Given the description of an element on the screen output the (x, y) to click on. 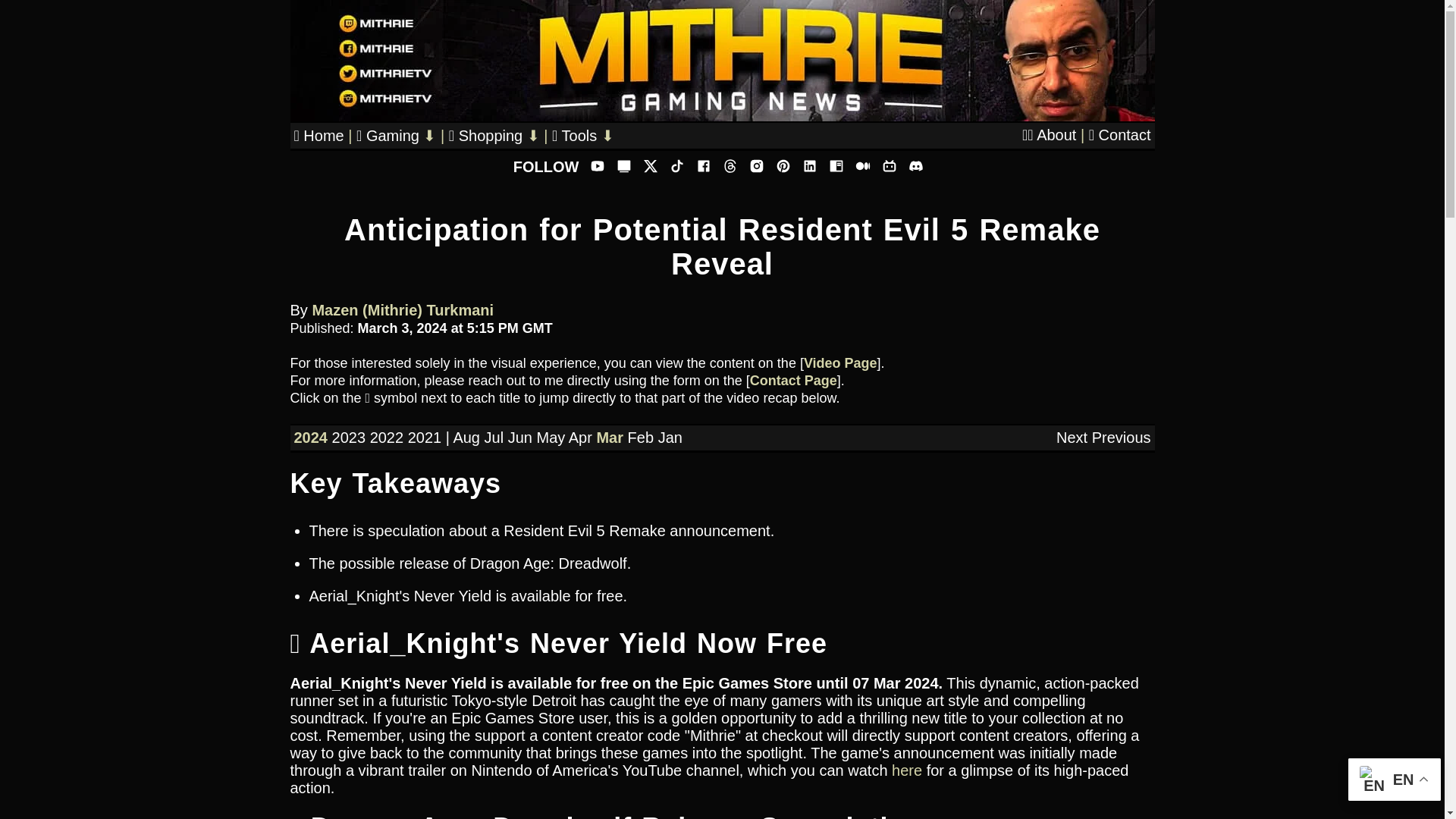
Video Page (840, 363)
2023 (348, 437)
Contact Page (793, 380)
Aug (466, 437)
2022 (386, 437)
2021 (424, 437)
